Given the description of an element on the screen output the (x, y) to click on. 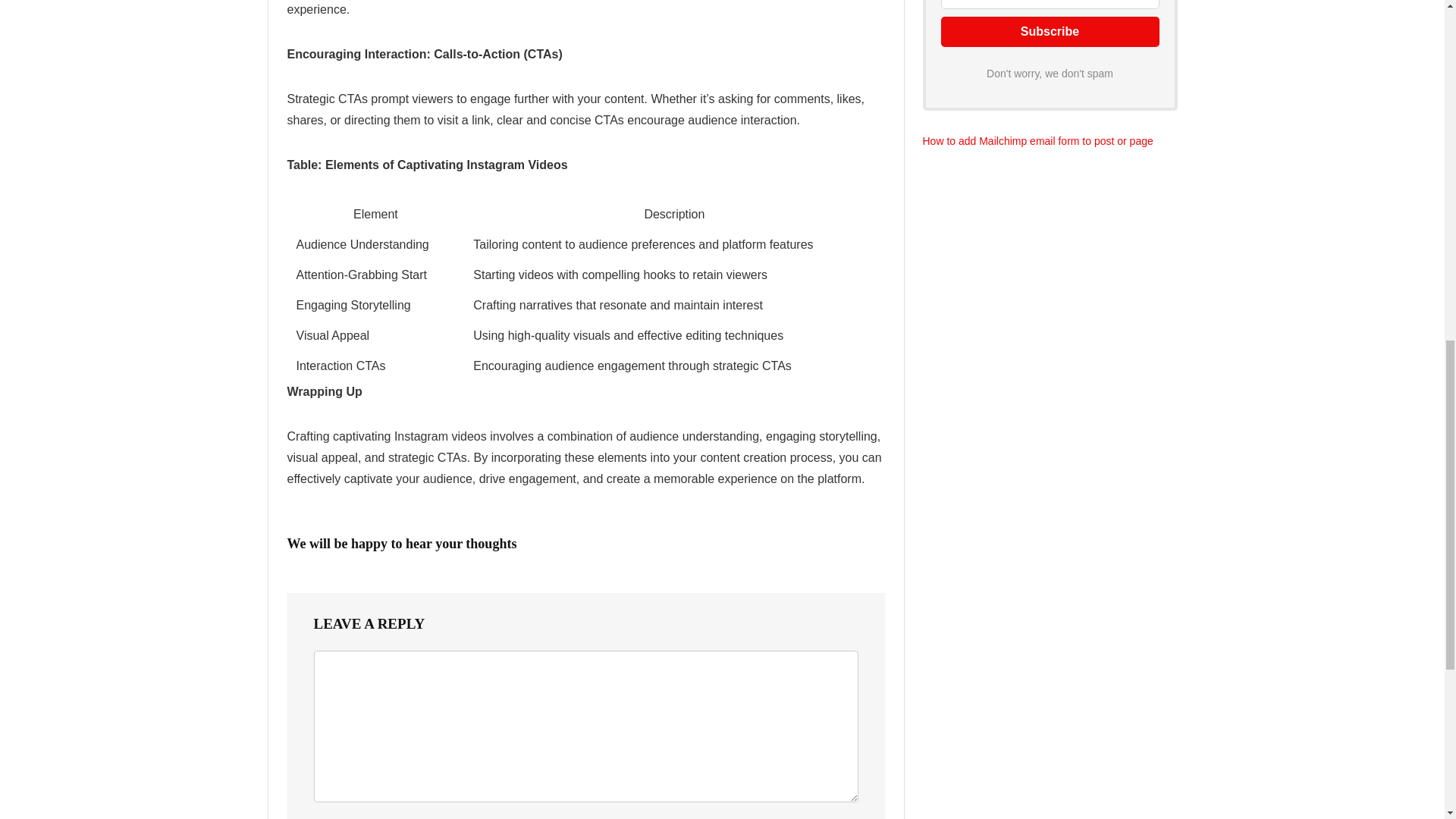
Subscribe (1049, 31)
How to add Mailchimp email form to post or page (1037, 141)
Subscribe (1049, 31)
